Given the description of an element on the screen output the (x, y) to click on. 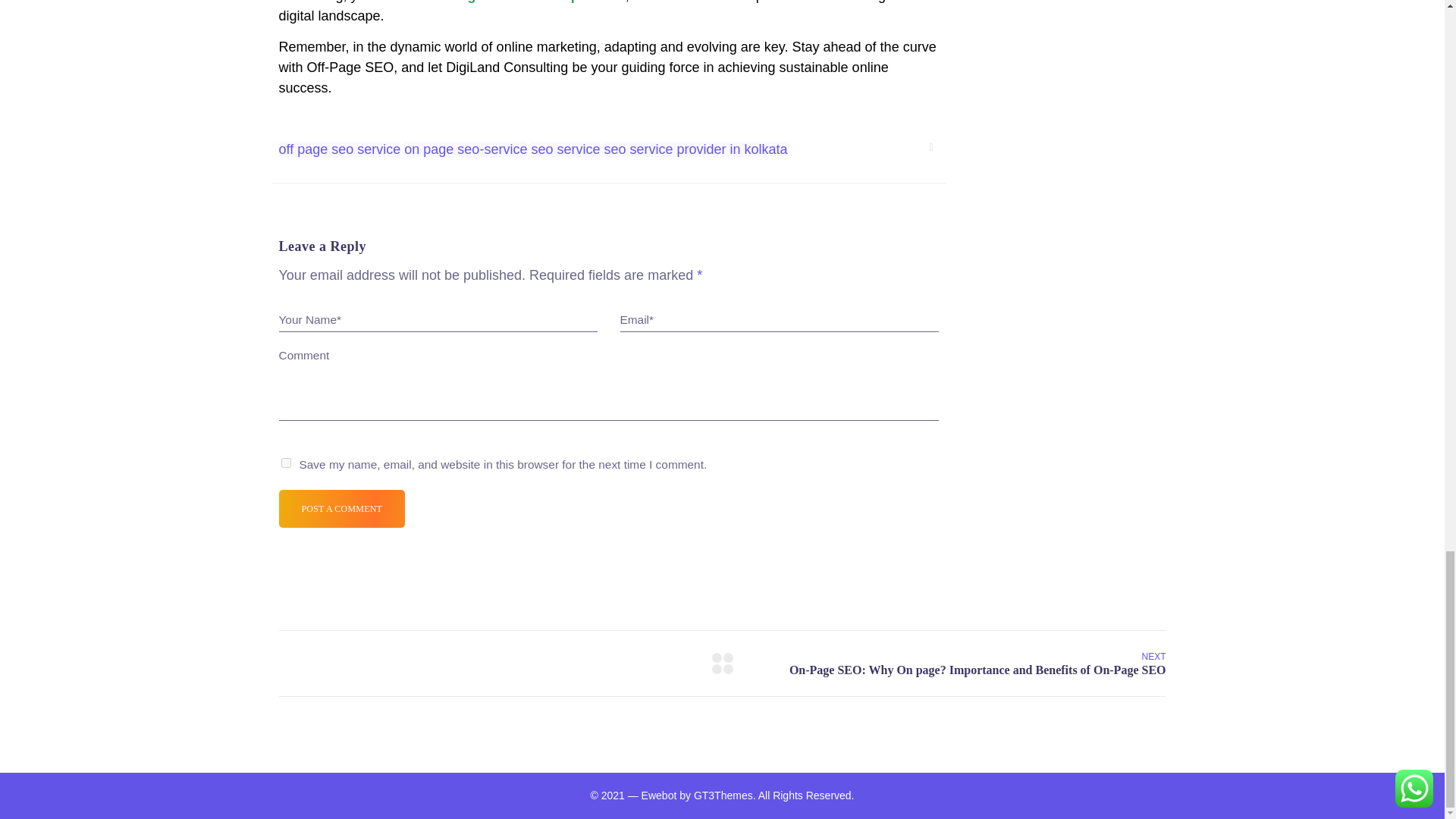
POST A COMMENT (342, 508)
on page seo-service (465, 149)
yes (285, 462)
off page seo service (340, 149)
Off-Page SEO service provider (526, 1)
seo service (565, 149)
NEXT (977, 663)
seo service provider in kolkata (695, 149)
